Given the description of an element on the screen output the (x, y) to click on. 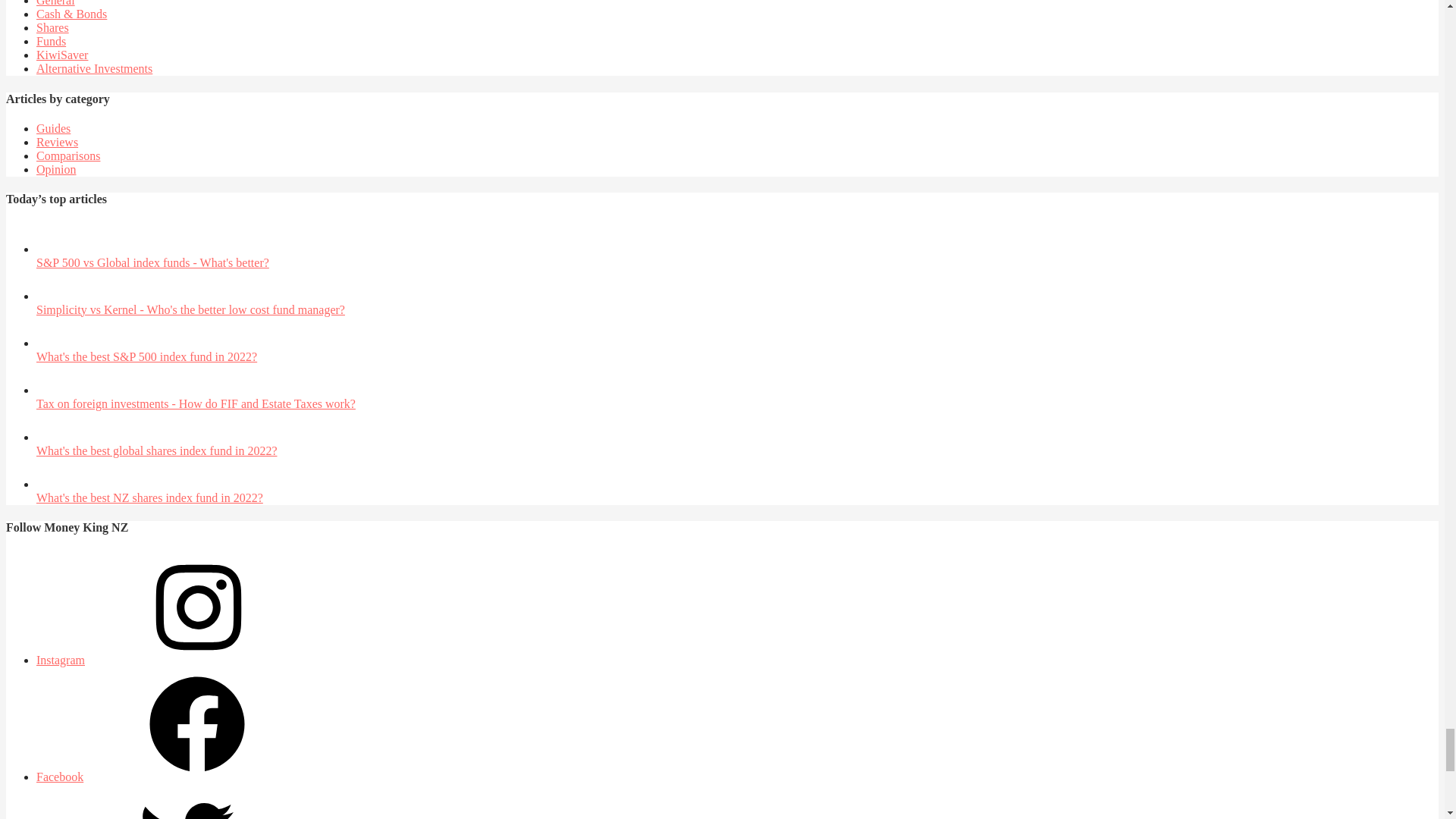
What's the best NZ shares index fund in 2022? (149, 497)
What's the best global shares index fund in 2022? (156, 450)
What's the best NZ shares index fund in 2022? (51, 483)
What's the best global shares index fund in 2022? (51, 436)
